Given the description of an element on the screen output the (x, y) to click on. 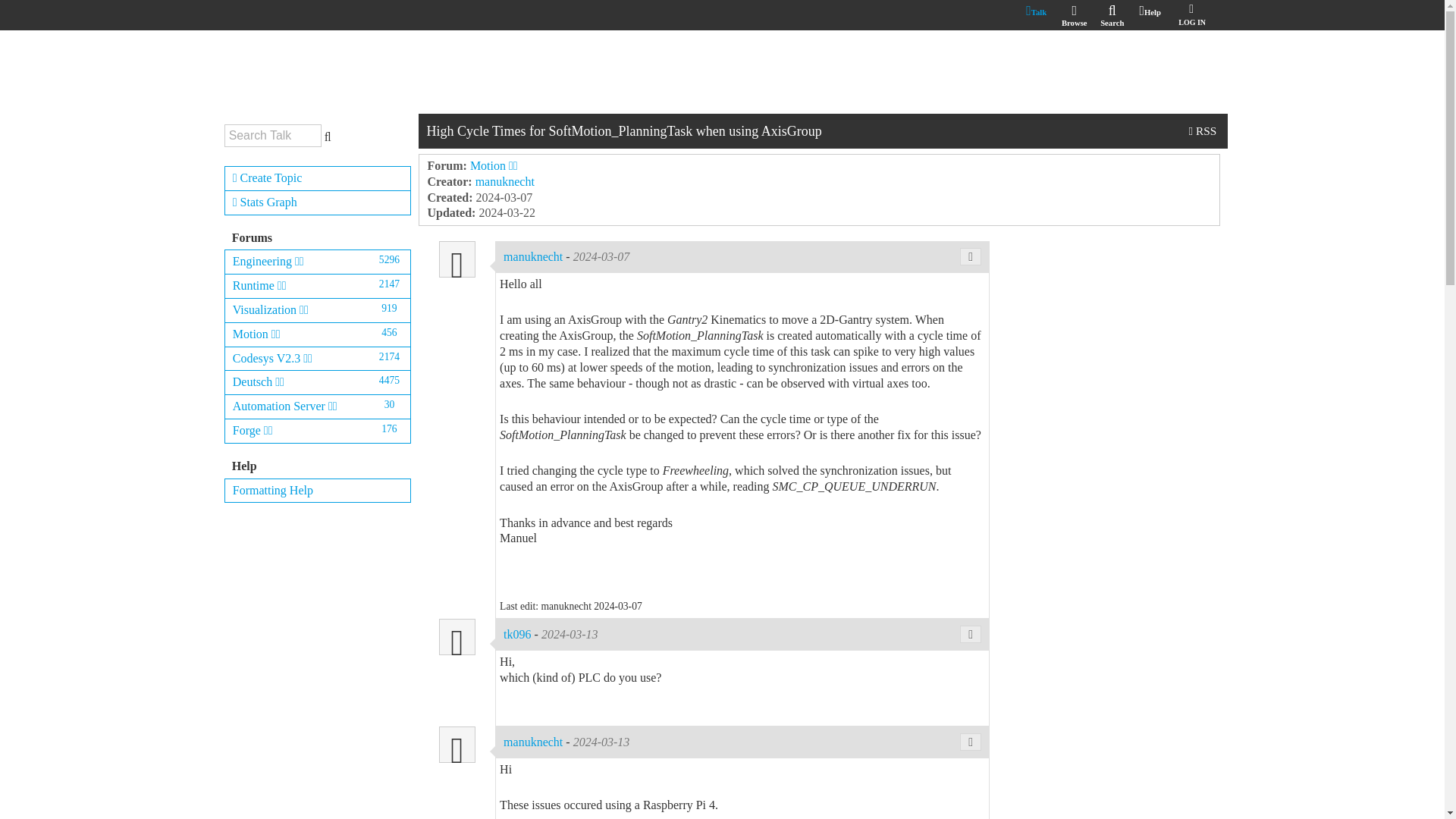
Stats (317, 202)
User (457, 744)
LOG IN (1189, 13)
Follow This (1203, 130)
Wed Mar 13, 2024 02:20 PM UTC (601, 741)
Help (1149, 12)
Wed Mar 13, 2024 11:50 AM UTC (569, 634)
Thu Mar 07, 2024 08:40 AM UTC (601, 256)
Stats Graph (317, 202)
Add (317, 178)
